Given the description of an element on the screen output the (x, y) to click on. 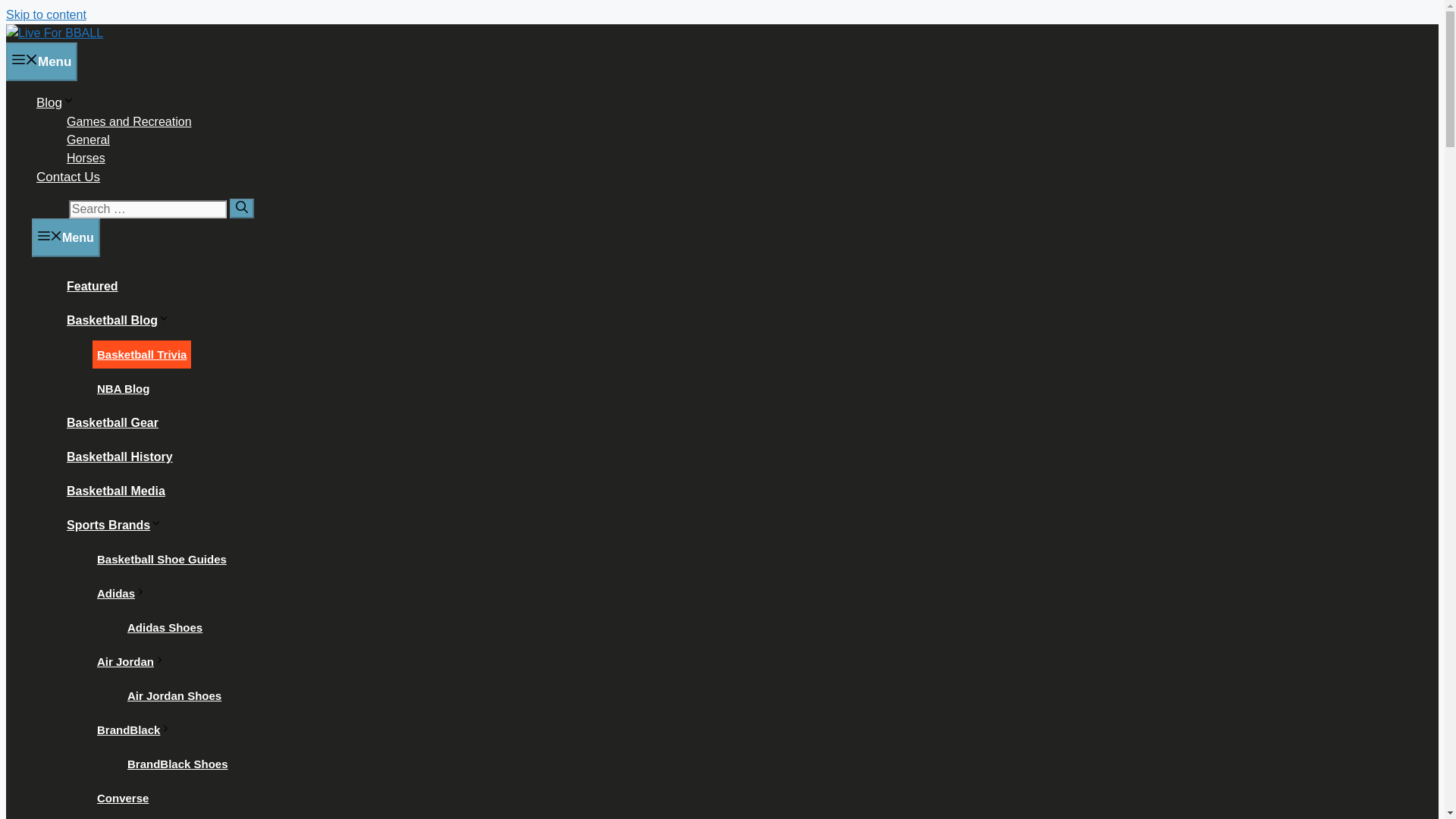
Basketball Shoe Guides (162, 559)
Basketball Blog (120, 319)
Basketball Gear (112, 422)
Contact Us (68, 176)
Featured (92, 286)
BrandBlack (136, 729)
Adidas Shoes (164, 627)
Games and Recreation (129, 121)
Search for: (147, 208)
BrandBlack Shoes (177, 764)
Horses (85, 157)
Basketball Media (116, 490)
Adidas (124, 593)
General (88, 139)
NBA Blog (123, 388)
